Given the description of an element on the screen output the (x, y) to click on. 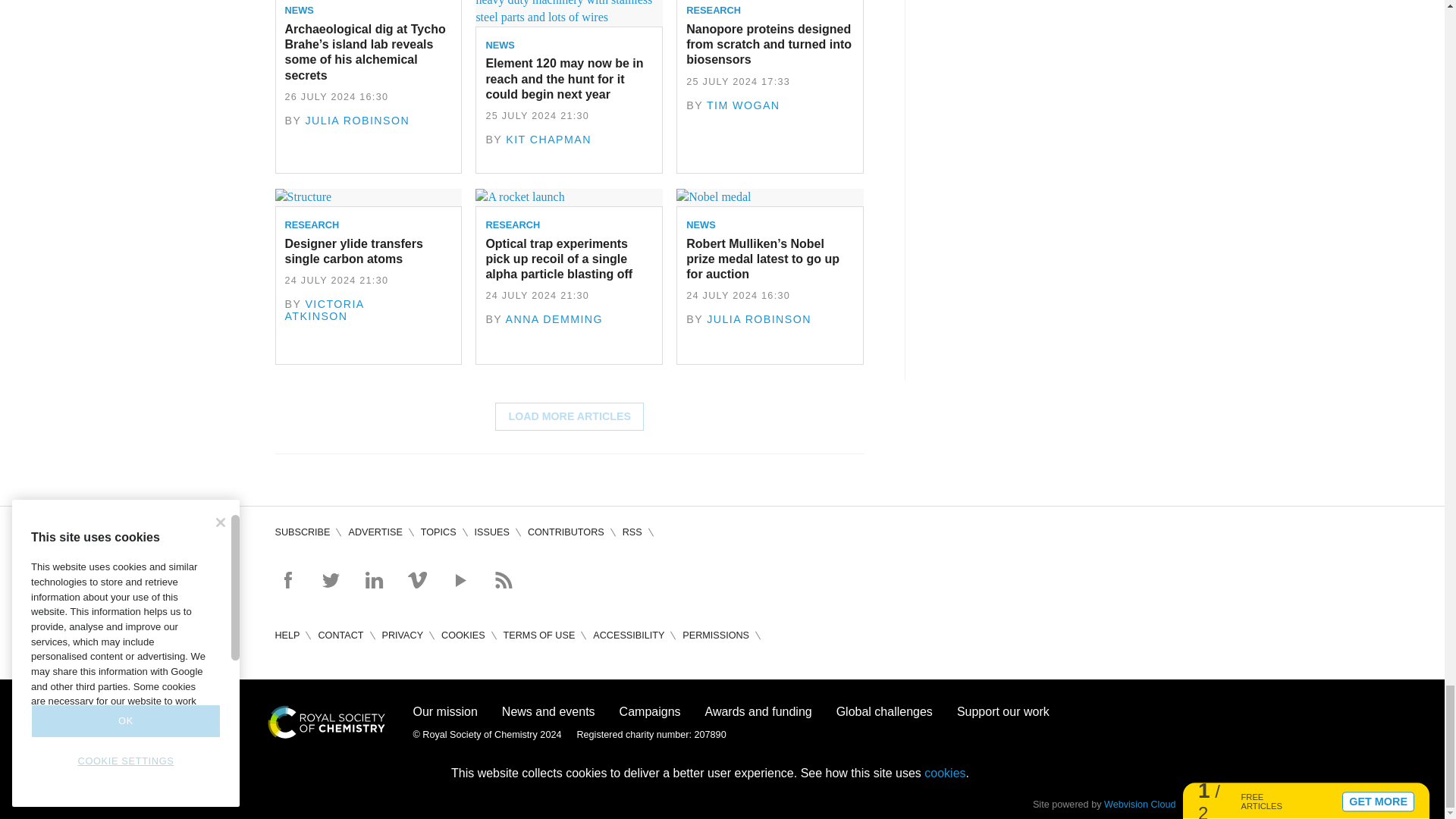
Follow on Facebook (287, 579)
Follow on Twitter (330, 579)
